Given the description of an element on the screen output the (x, y) to click on. 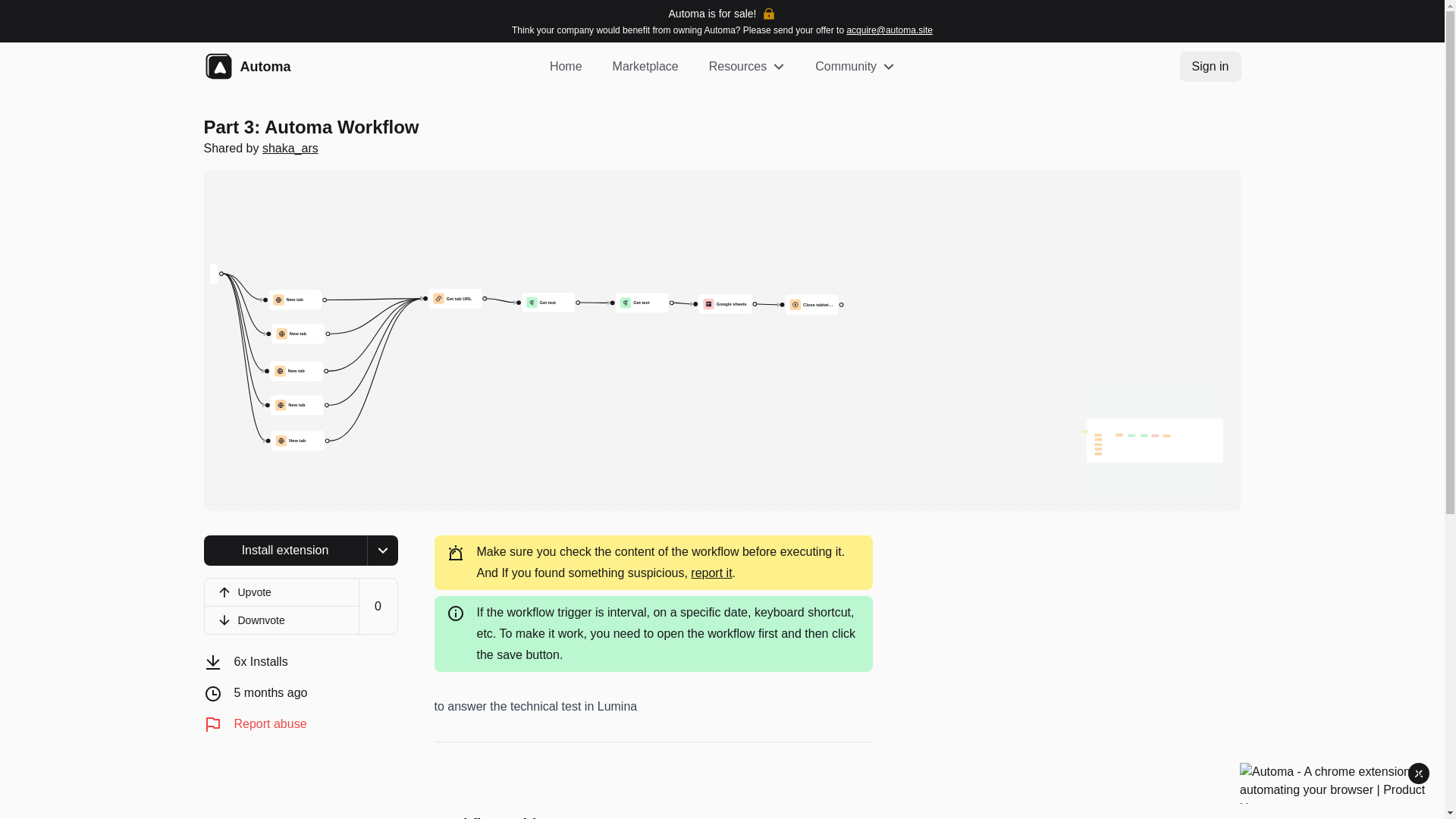
Automa (264, 66)
Marketplace (645, 66)
Upvote (281, 592)
Downvote (281, 619)
Home (565, 66)
Automa (289, 66)
Install extension (284, 550)
Community (855, 66)
Upvotes count (378, 606)
Sign in (1210, 66)
